Given the description of an element on the screen output the (x, y) to click on. 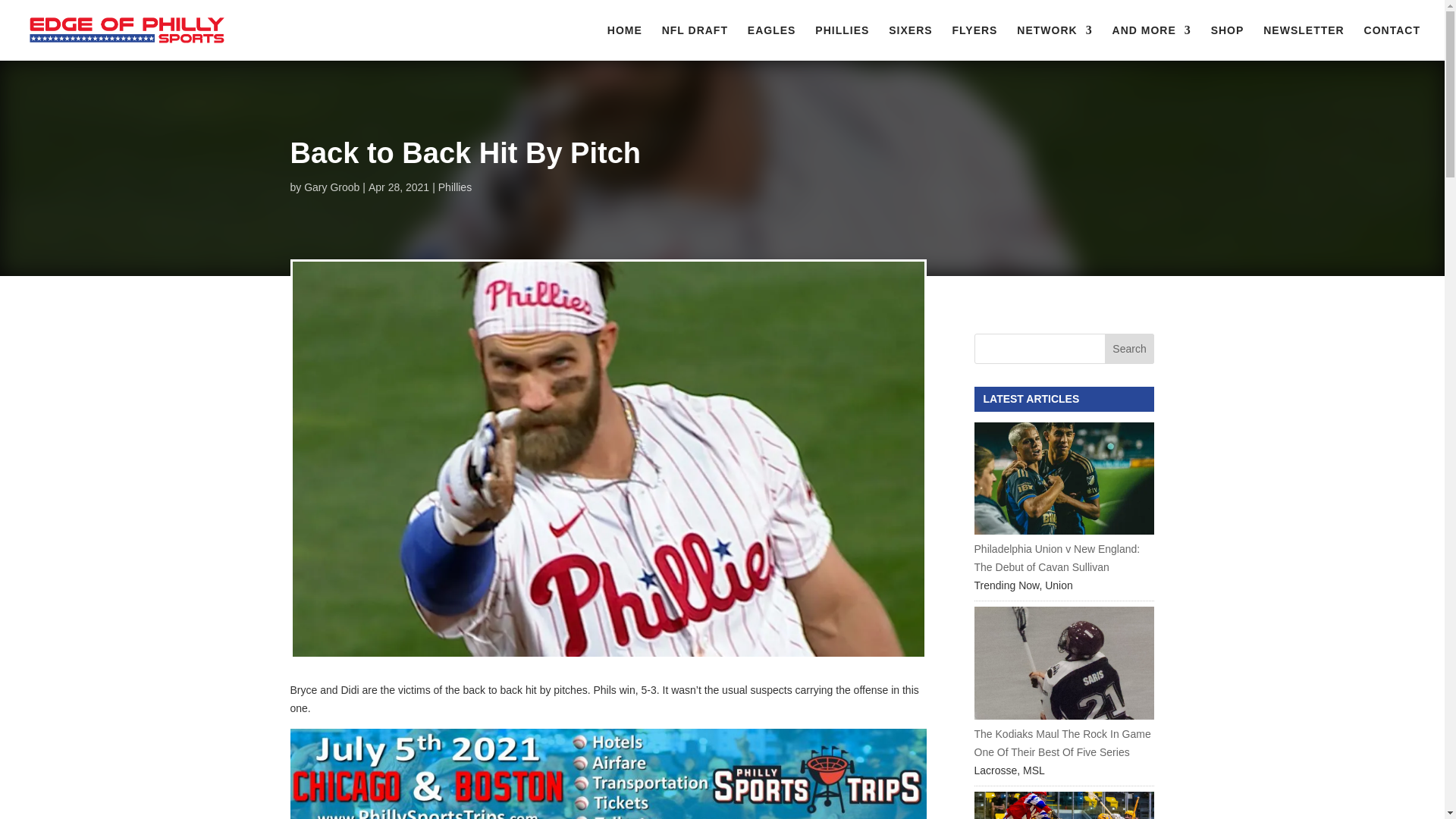
HOME (624, 42)
Posts by Gary Groob (331, 186)
NEWSLETTER (1303, 42)
NETWORK (1054, 42)
FLYERS (974, 42)
AND MORE (1151, 42)
NFL DRAFT (695, 42)
SHOP (1227, 42)
Search (1129, 348)
CONTACT (1392, 42)
EAGLES (772, 42)
SIXERS (909, 42)
PHILLIES (842, 42)
